Given the description of an element on the screen output the (x, y) to click on. 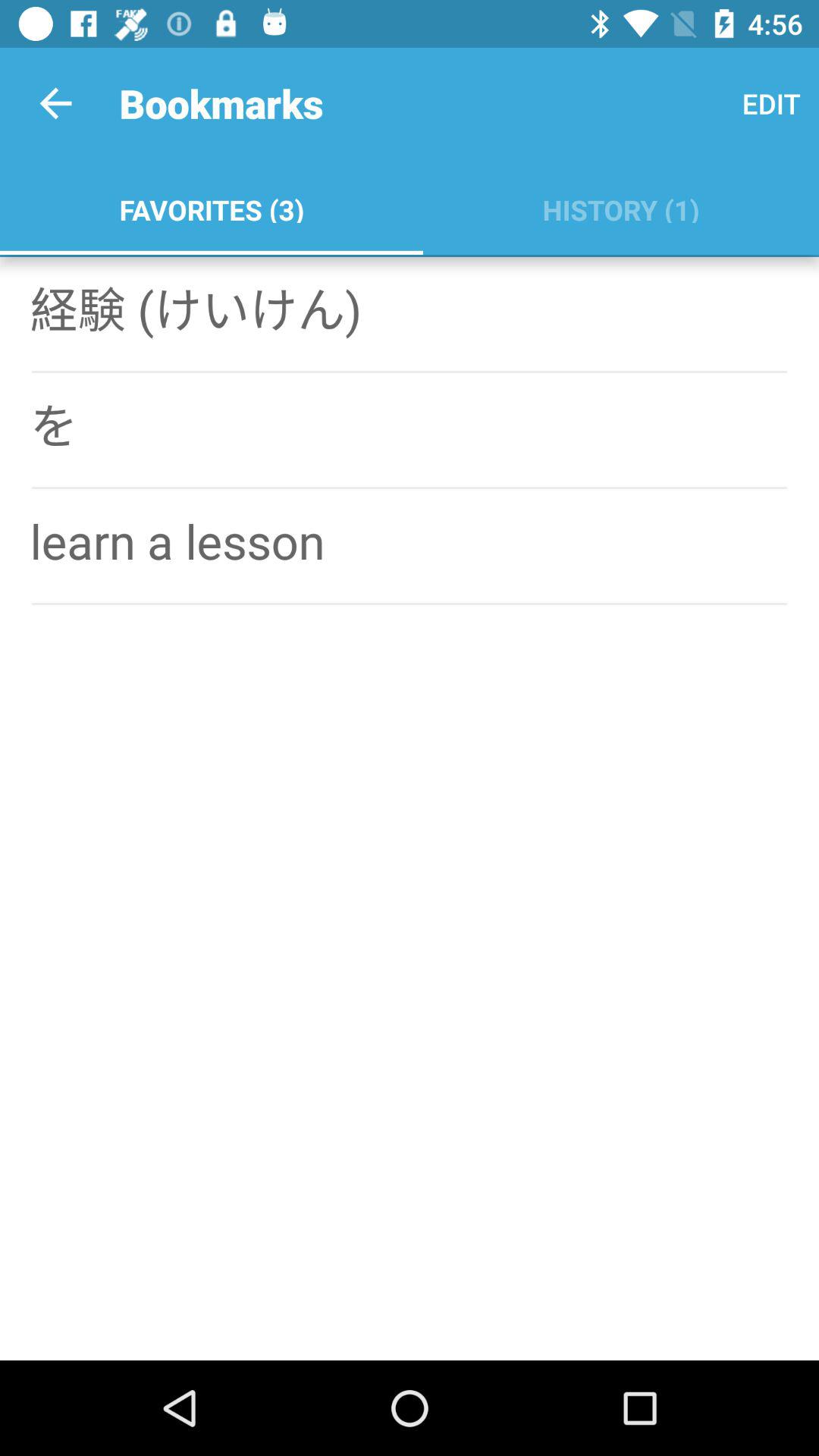
tap item to the right of the favorites (3) app (621, 206)
